Given the description of an element on the screen output the (x, y) to click on. 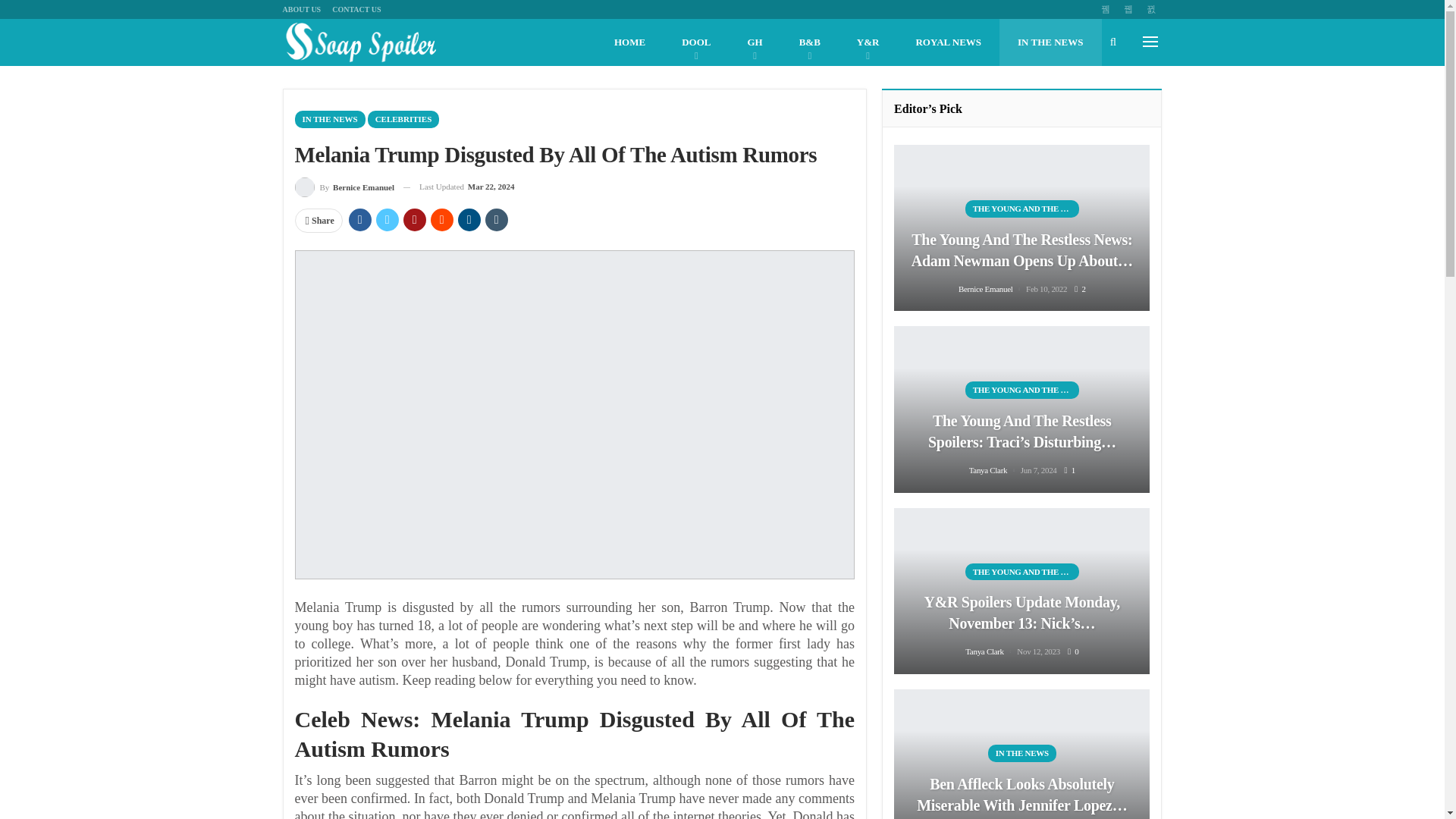
GH (754, 42)
ROYAL NEWS (947, 42)
Browse Author Articles (344, 186)
DOOL (696, 42)
By Bernice Emanuel (344, 186)
CONTACT US (355, 8)
HOME (629, 42)
CELEBRITIES (403, 118)
IN THE NEWS (1049, 42)
IN THE NEWS (329, 118)
